Given the description of an element on the screen output the (x, y) to click on. 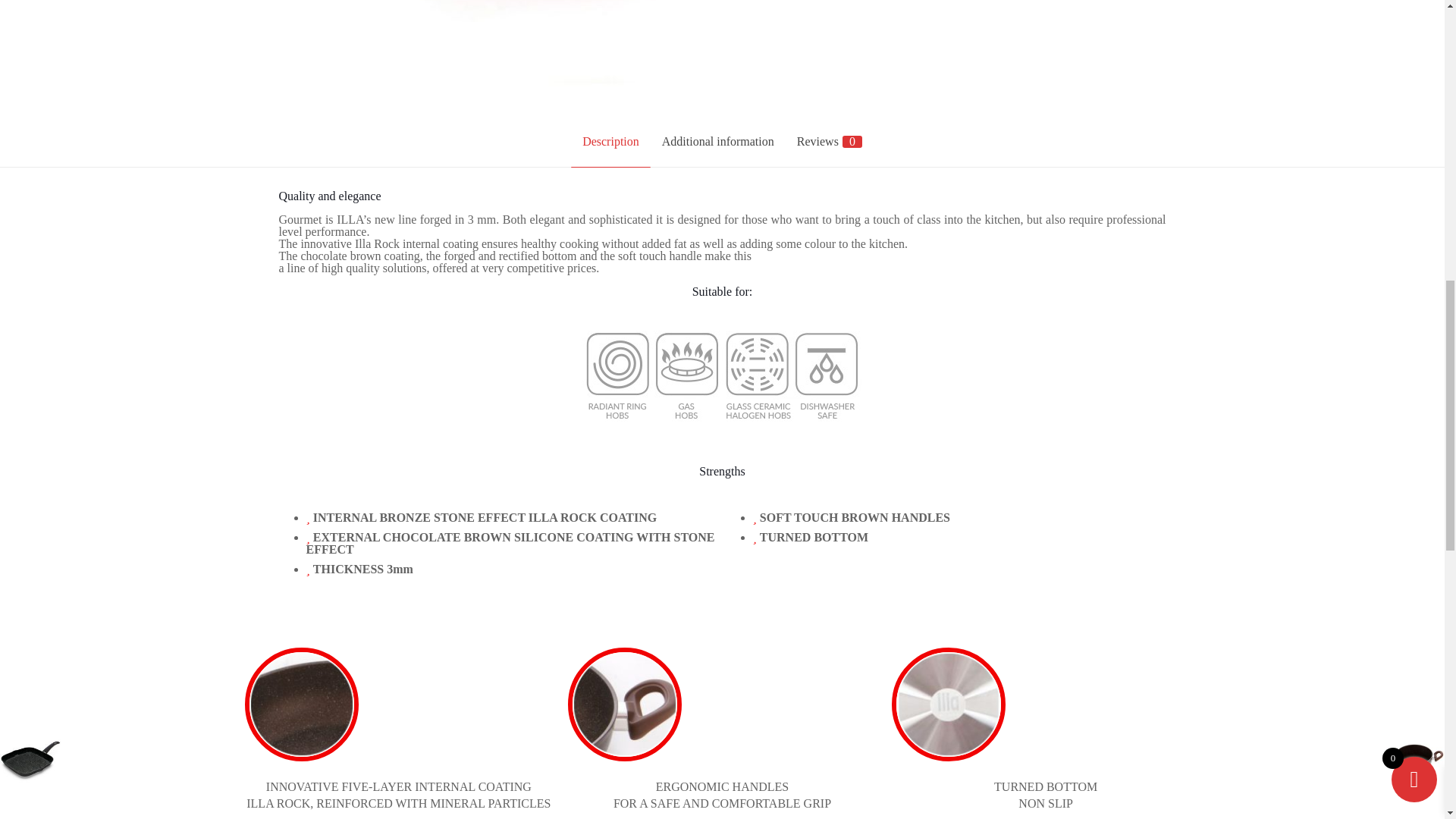
Gourmet tegame 2 maniglie (536, 43)
